Given the description of an element on the screen output the (x, y) to click on. 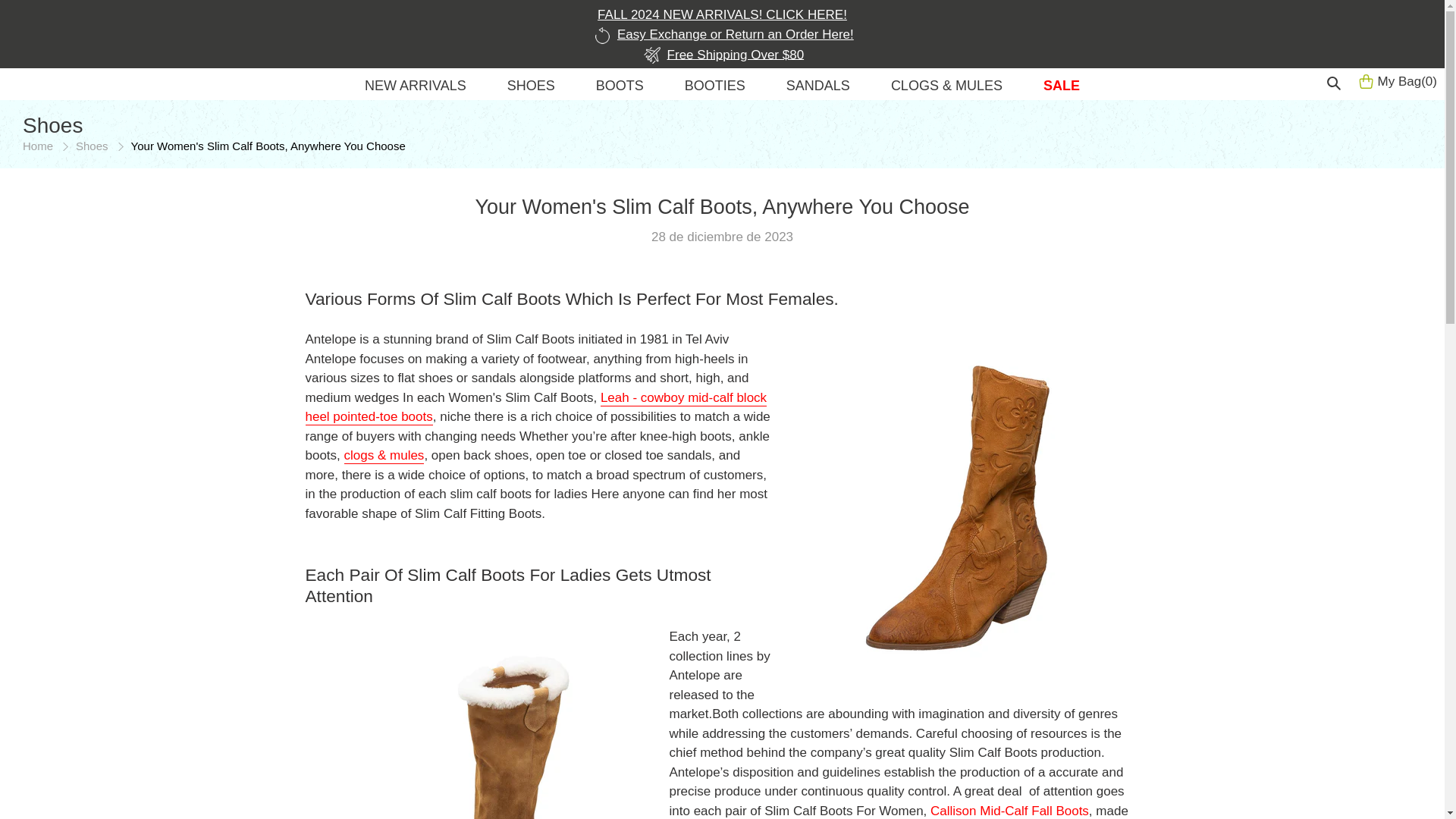
NEW ARRIVALS (414, 87)
SALE (1061, 87)
Home (37, 145)
FALL 2024 NEW ARRIVALS! CLICK HERE! (721, 13)
SANDALS (817, 87)
BOOTS (619, 87)
Shoes (91, 145)
Easy Exchange or Return an Order Here! (722, 33)
BOOTIES (714, 87)
Buscar (1336, 81)
